Given the description of an element on the screen output the (x, y) to click on. 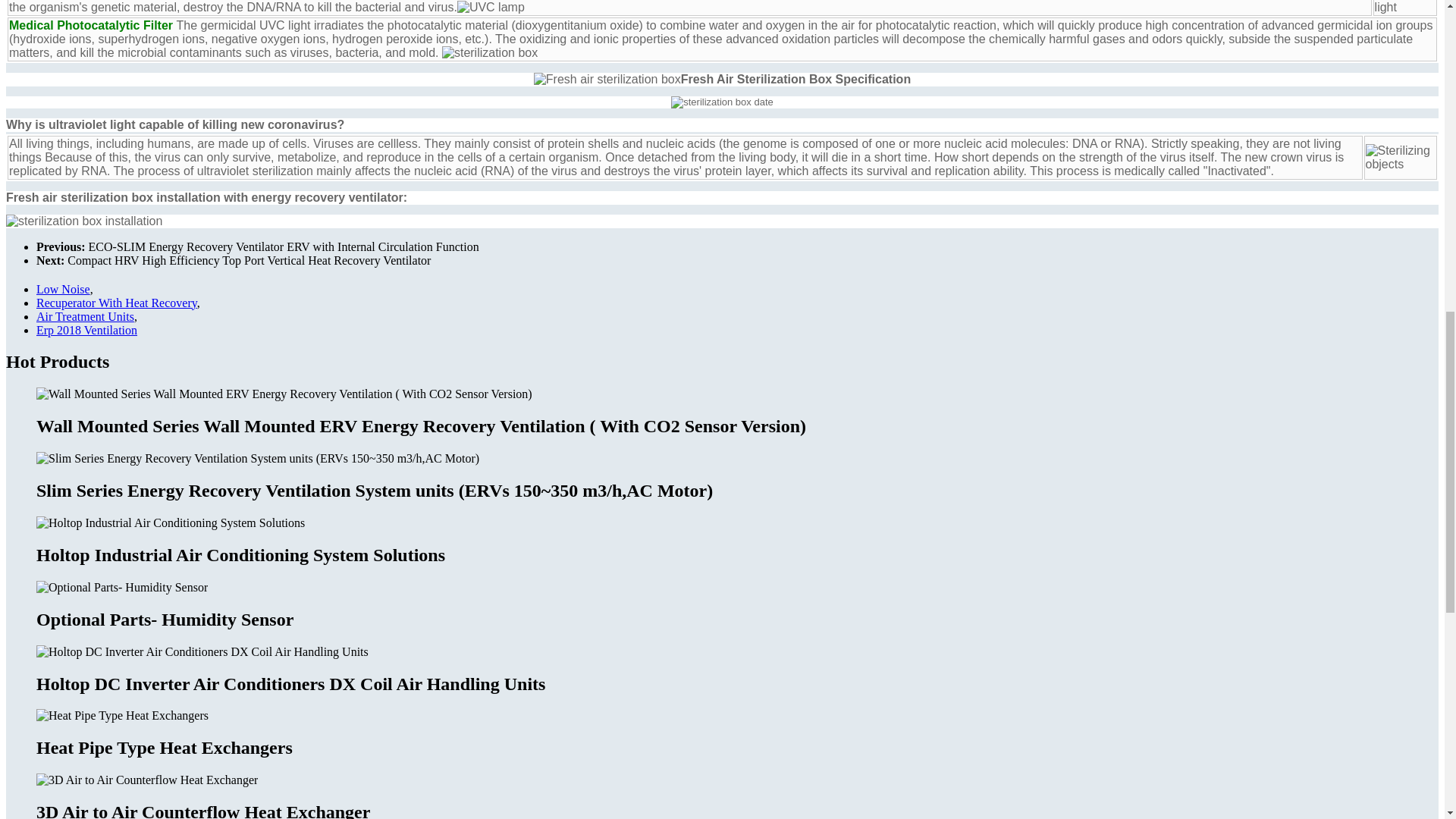
Erp 2018 Ventilation (86, 329)
Air Treatment Units (84, 316)
Recuperator With Heat Recovery (116, 302)
Low Noise (63, 288)
